Given the description of an element on the screen output the (x, y) to click on. 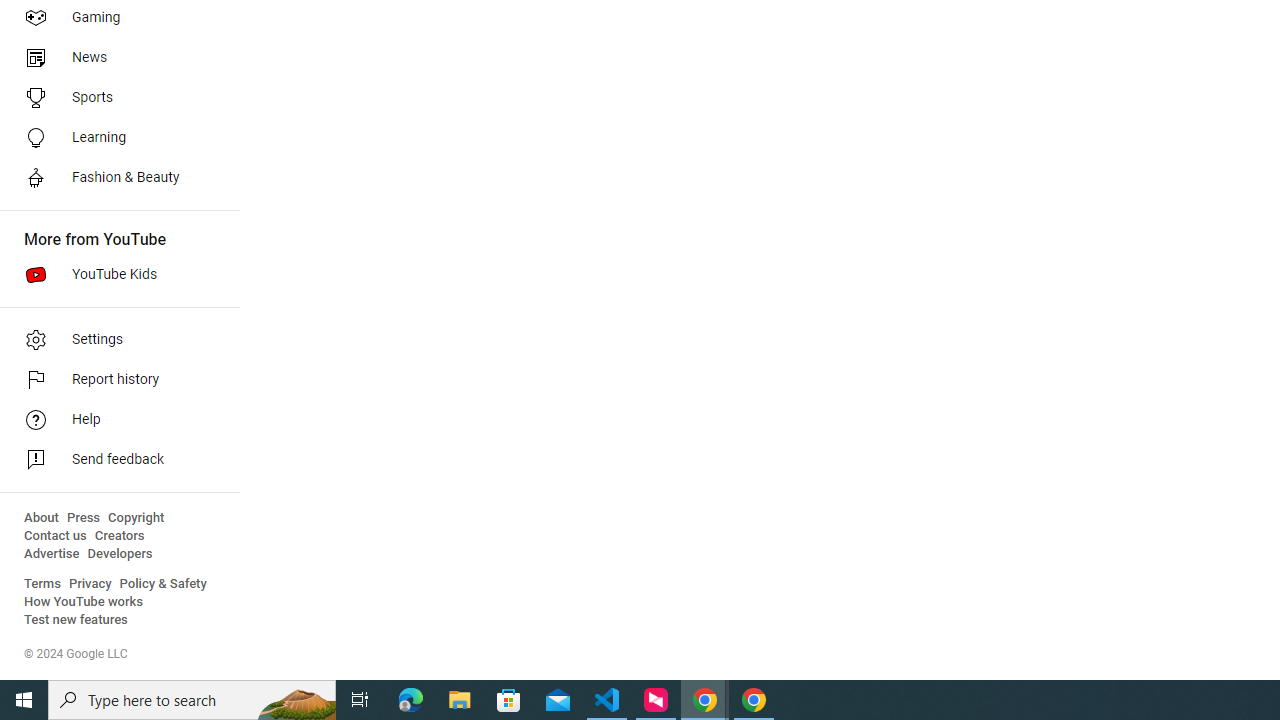
Contact us (55, 536)
News (113, 57)
Developers (120, 554)
YouTube Kids (113, 274)
Copyright (136, 518)
Creators (118, 536)
Policy & Safety (163, 584)
Report history (113, 380)
Send feedback (113, 459)
Press (83, 518)
How YouTube works (83, 602)
Learning (113, 137)
